Given the description of an element on the screen output the (x, y) to click on. 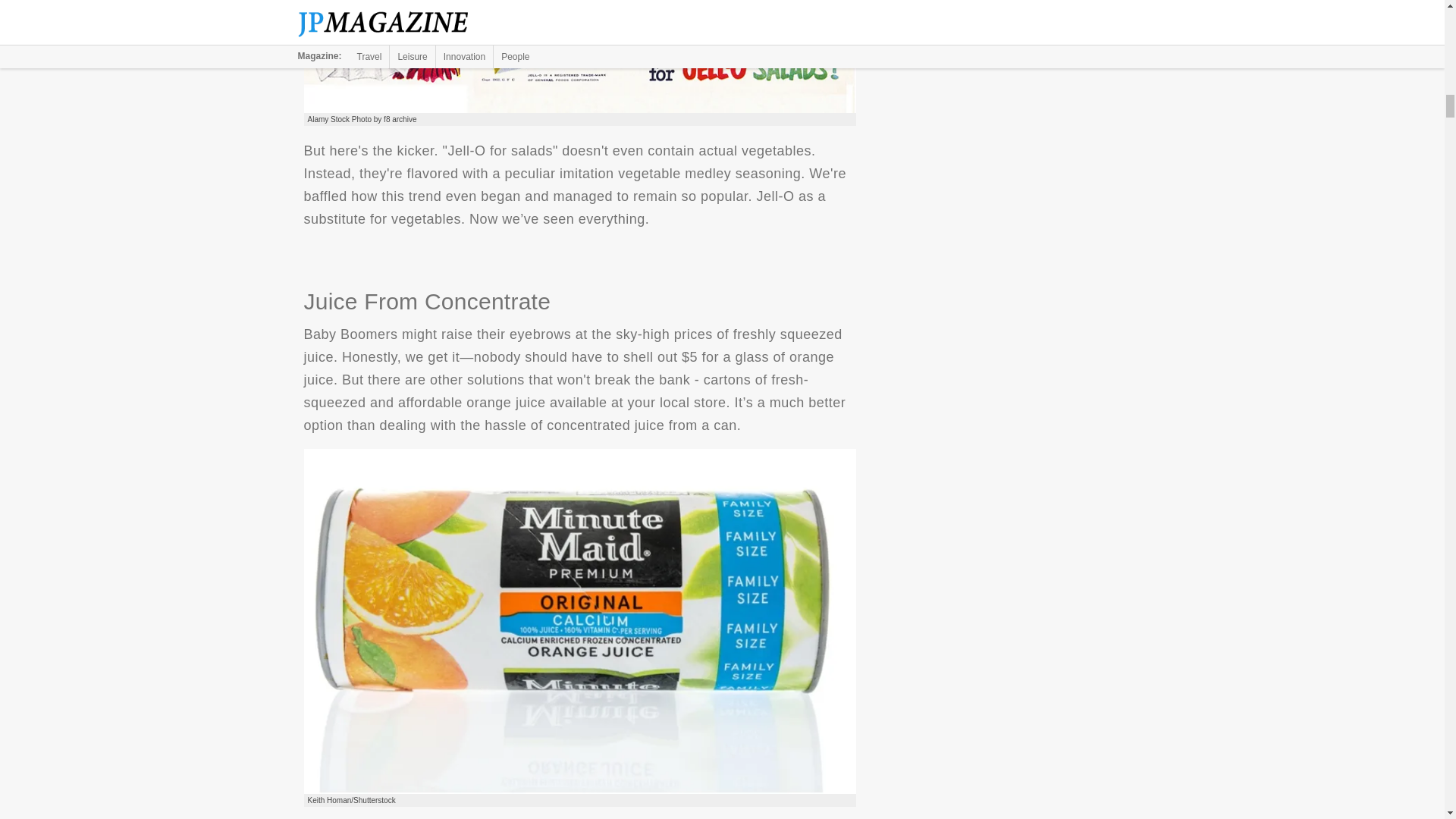
Savory Jell-O Products (579, 56)
